Given the description of an element on the screen output the (x, y) to click on. 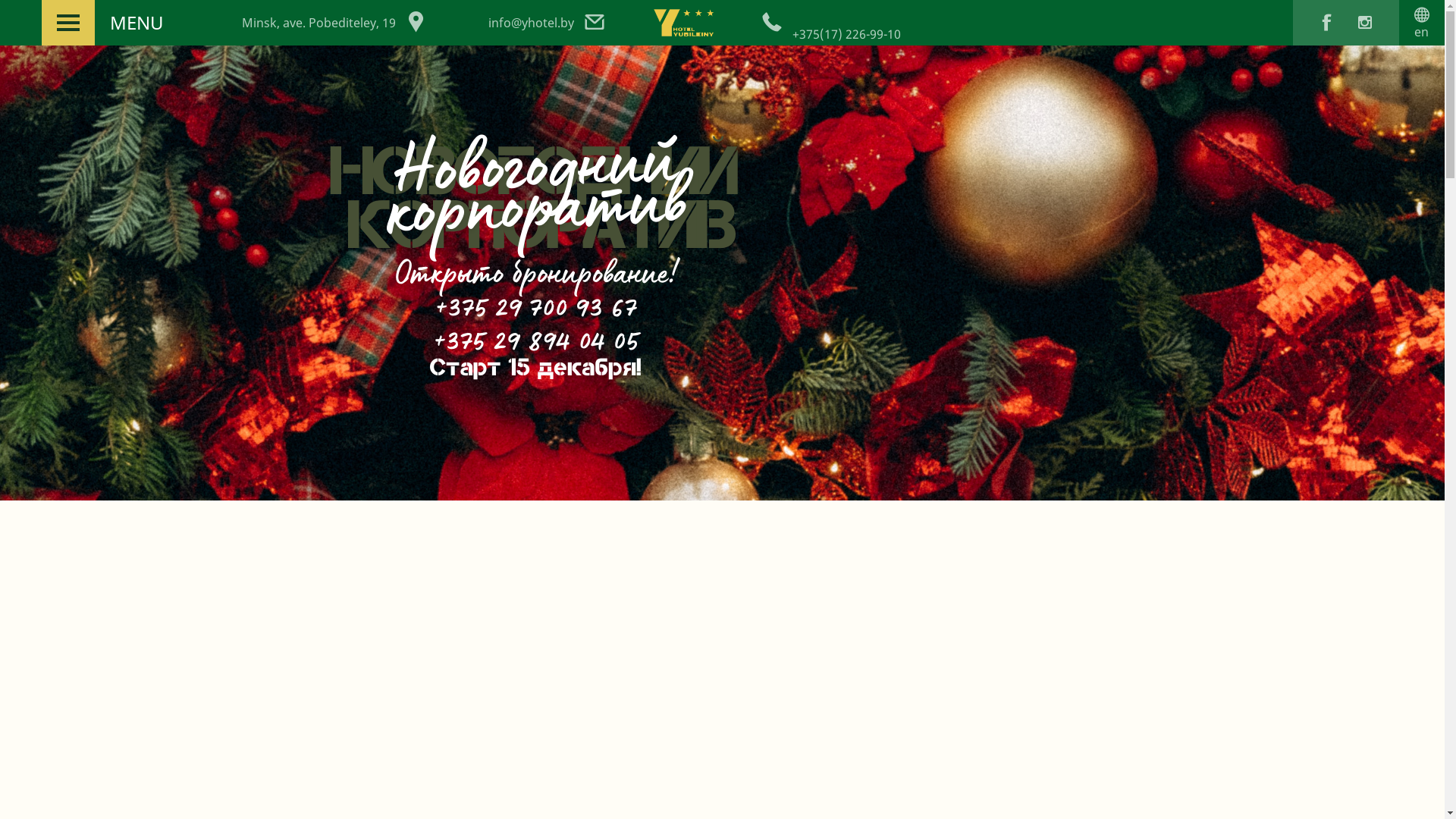
Minsk, ave. Pobediteley, 19 Element type: text (341, 22)
info@yhotel.by Element type: text (546, 22)
+375(17) 226-99-10 Element type: text (846, 33)
